Given the description of an element on the screen output the (x, y) to click on. 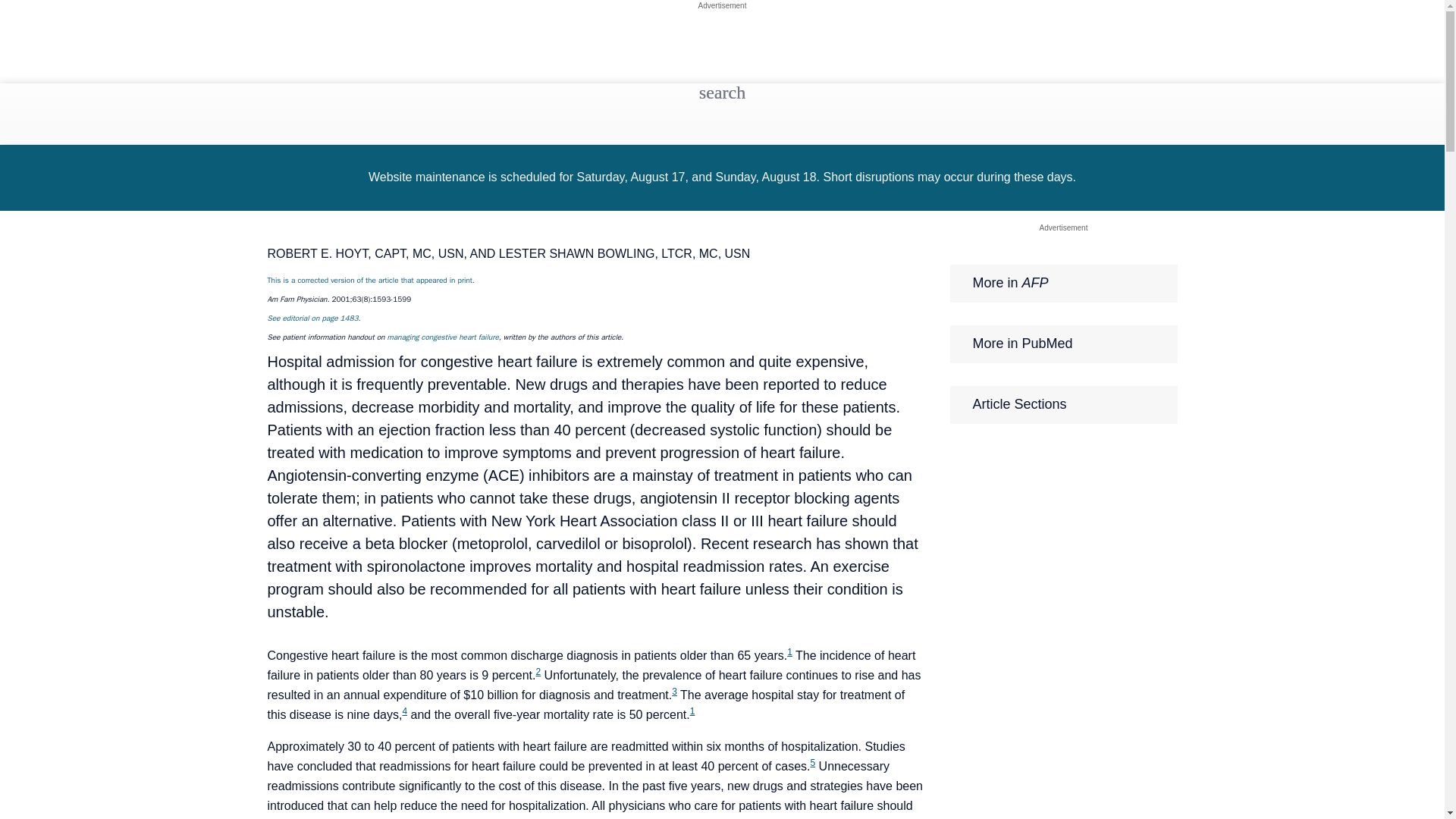
Advertisement (722, 5)
See editorial on page 1483. (312, 317)
managing congestive heart failure (442, 337)
